Given the description of an element on the screen output the (x, y) to click on. 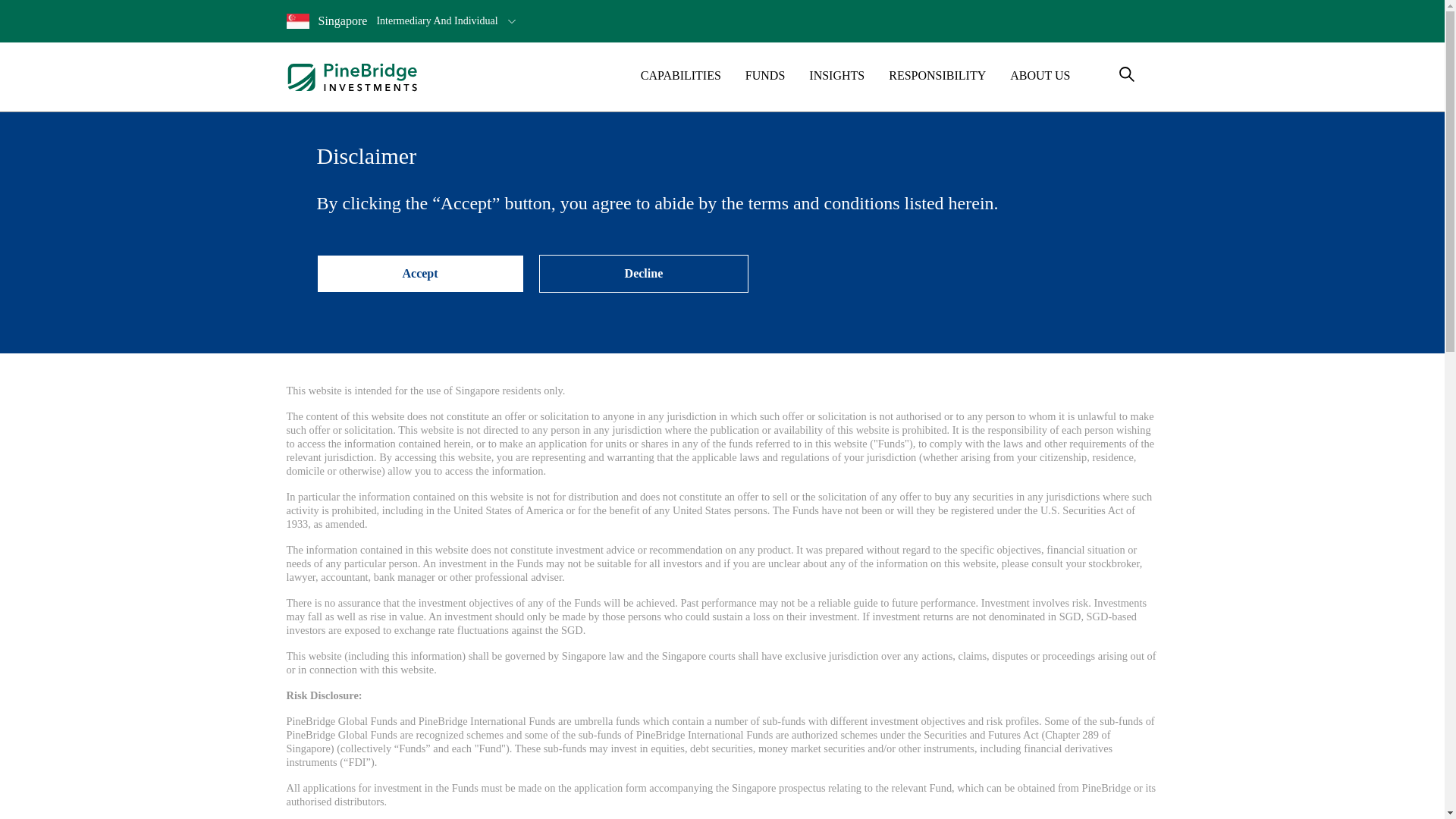
RESPONSIBILITY (936, 75)
INSIGHTS (836, 75)
Accept (722, 21)
FUNDS (420, 273)
ABOUT US (764, 75)
Decline (1040, 75)
CAPABILITIES (643, 273)
